Given the description of an element on the screen output the (x, y) to click on. 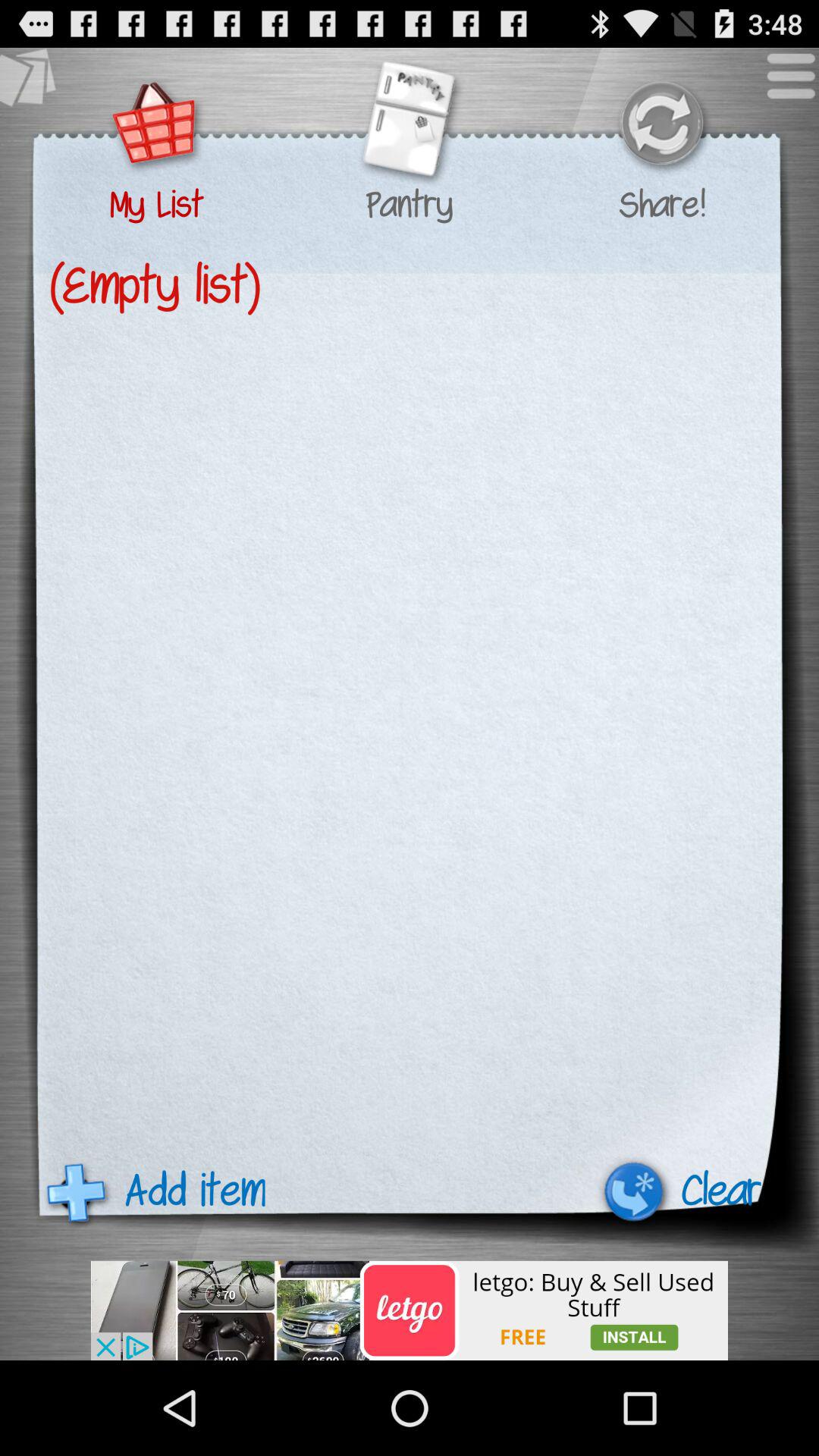
share with friends (661, 125)
